Given the description of an element on the screen output the (x, y) to click on. 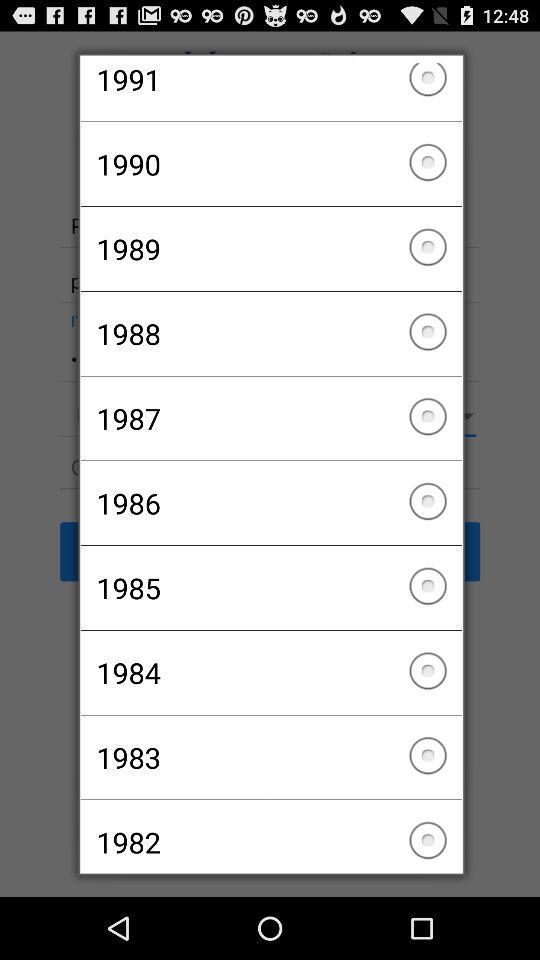
open the icon below the 1985 icon (270, 672)
